Given the description of an element on the screen output the (x, y) to click on. 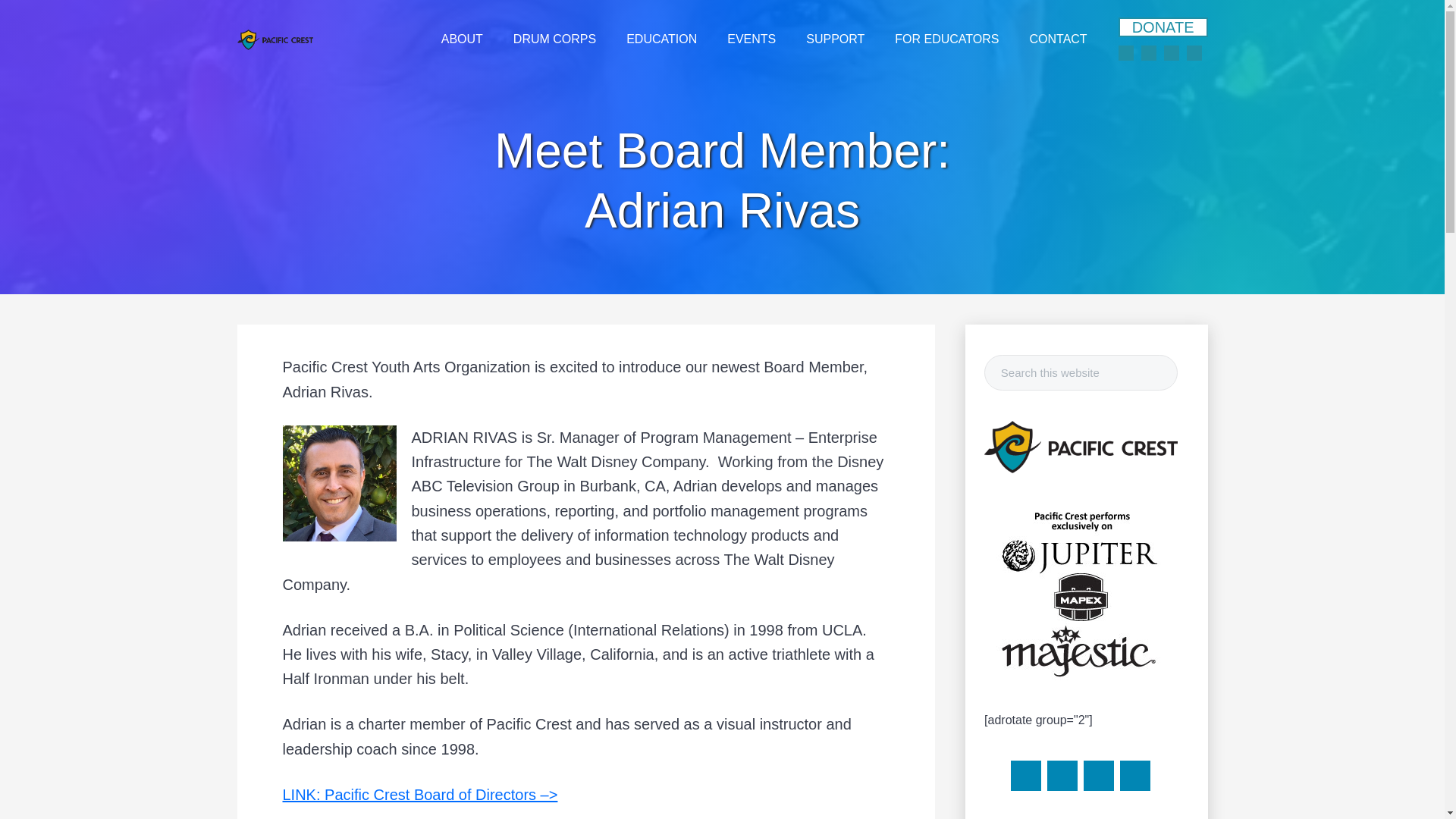
EVENTS (750, 39)
ABOUT (461, 39)
Pacific Crest Sponsor - Drum and Bugle Corp. Diamond Bar, CA (1080, 447)
EDUCATION (661, 39)
DRUM CORPS (554, 39)
SUPPORT (834, 39)
